Given the description of an element on the screen output the (x, y) to click on. 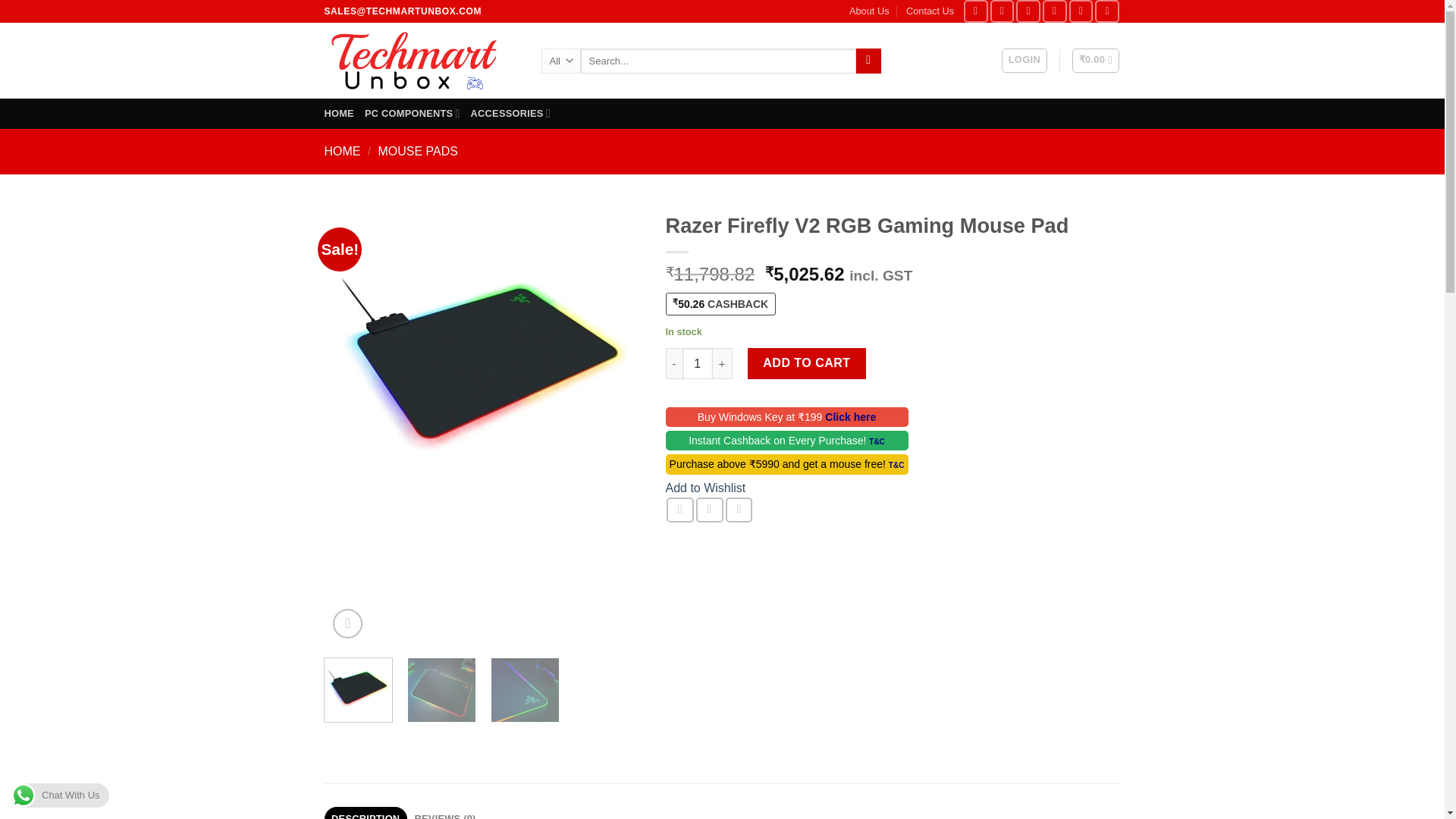
ACCESSORIES (510, 112)
Follow on Twitter (1028, 11)
PC COMPONENTS (412, 112)
Follow on YouTube (1106, 11)
Follow on Facebook (975, 11)
LOGIN (1023, 60)
Zoom (347, 623)
Follow on Instagram (1002, 11)
Send us an email (1054, 11)
